Given the description of an element on the screen output the (x, y) to click on. 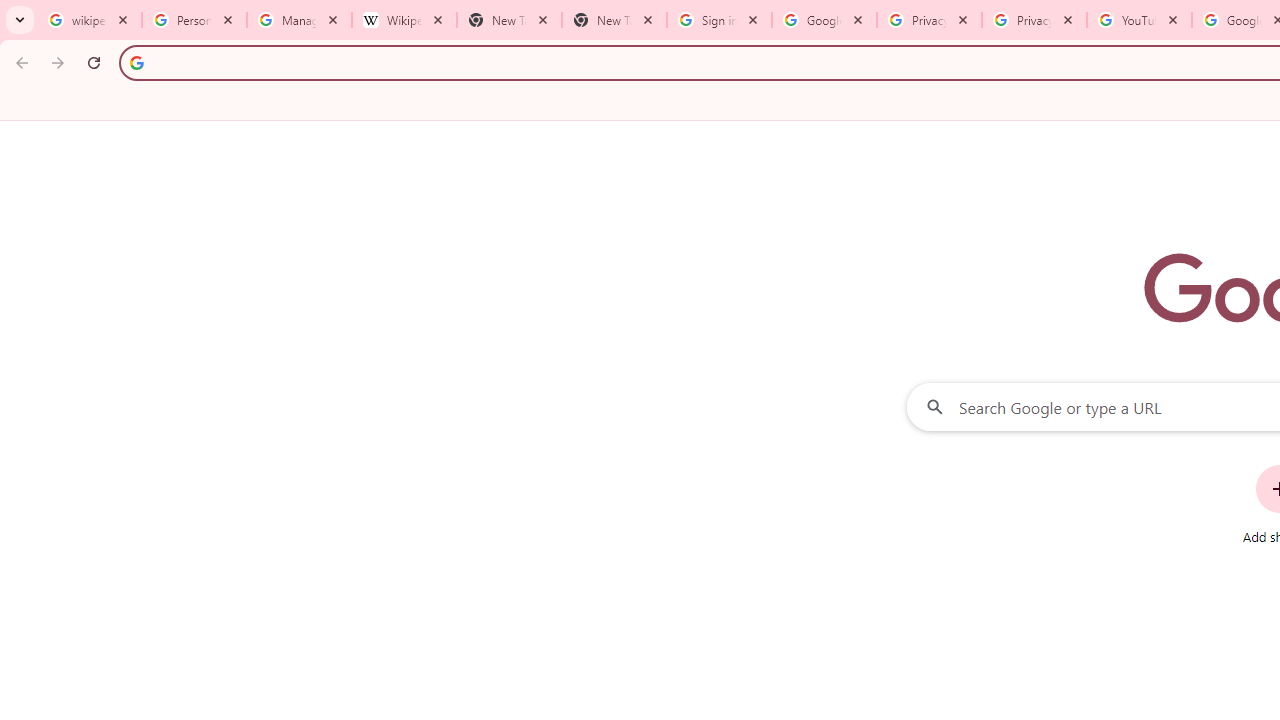
YouTube (1138, 20)
Wikipedia:Edit requests - Wikipedia (404, 20)
Personalization & Google Search results - Google Search Help (194, 20)
Google Drive: Sign-in (823, 20)
Manage your Location History - Google Search Help (299, 20)
Sign in - Google Accounts (718, 20)
